Given the description of an element on the screen output the (x, y) to click on. 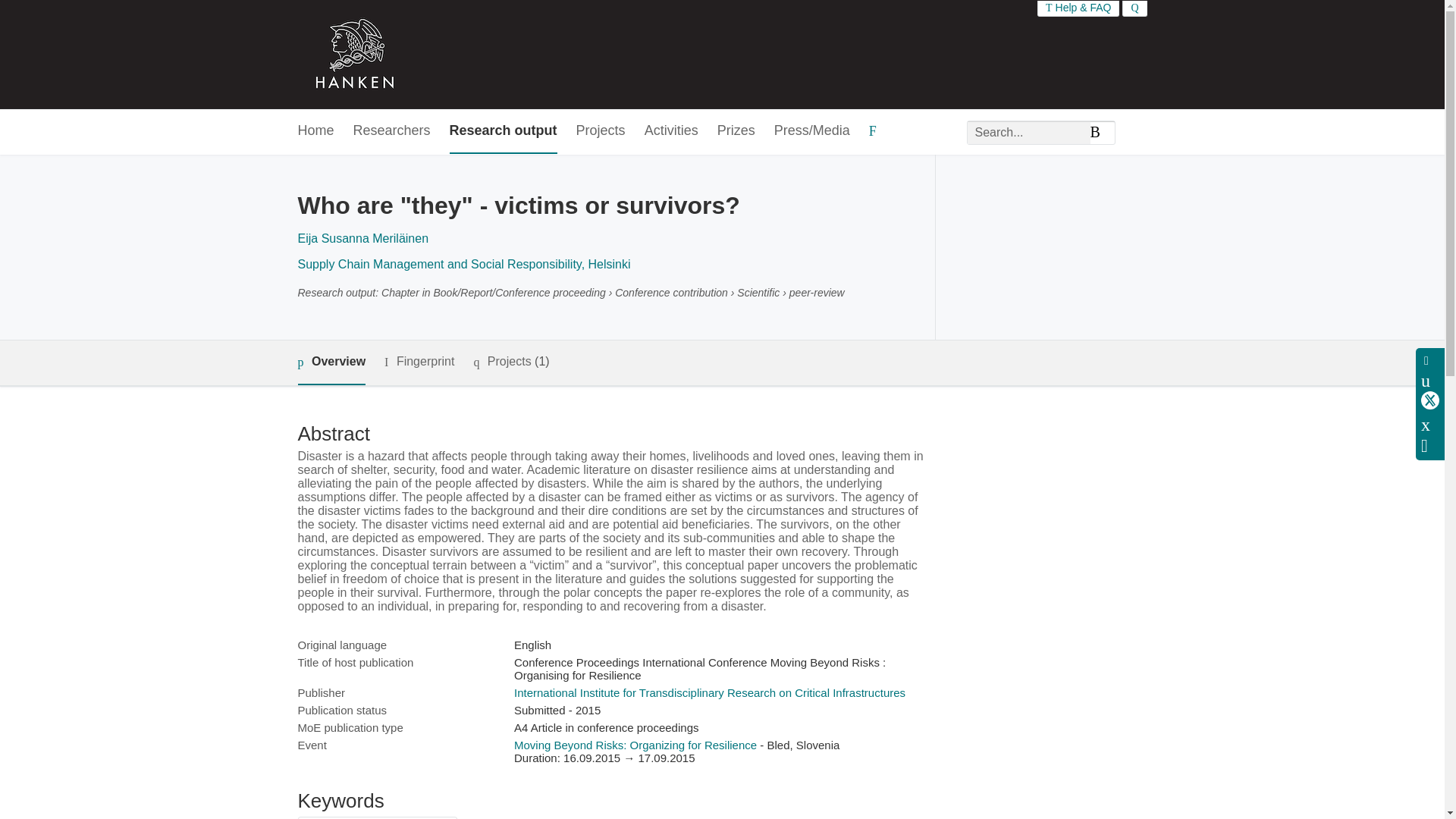
Researchers (391, 130)
Projects (601, 130)
Research output (503, 130)
Supply Chain Management and Social Responsibility, Helsinki (463, 264)
Overview (331, 362)
Moving Beyond Risks: Organizing for Resilience (635, 744)
Activities (671, 130)
Fingerprint (419, 362)
